Given the description of an element on the screen output the (x, y) to click on. 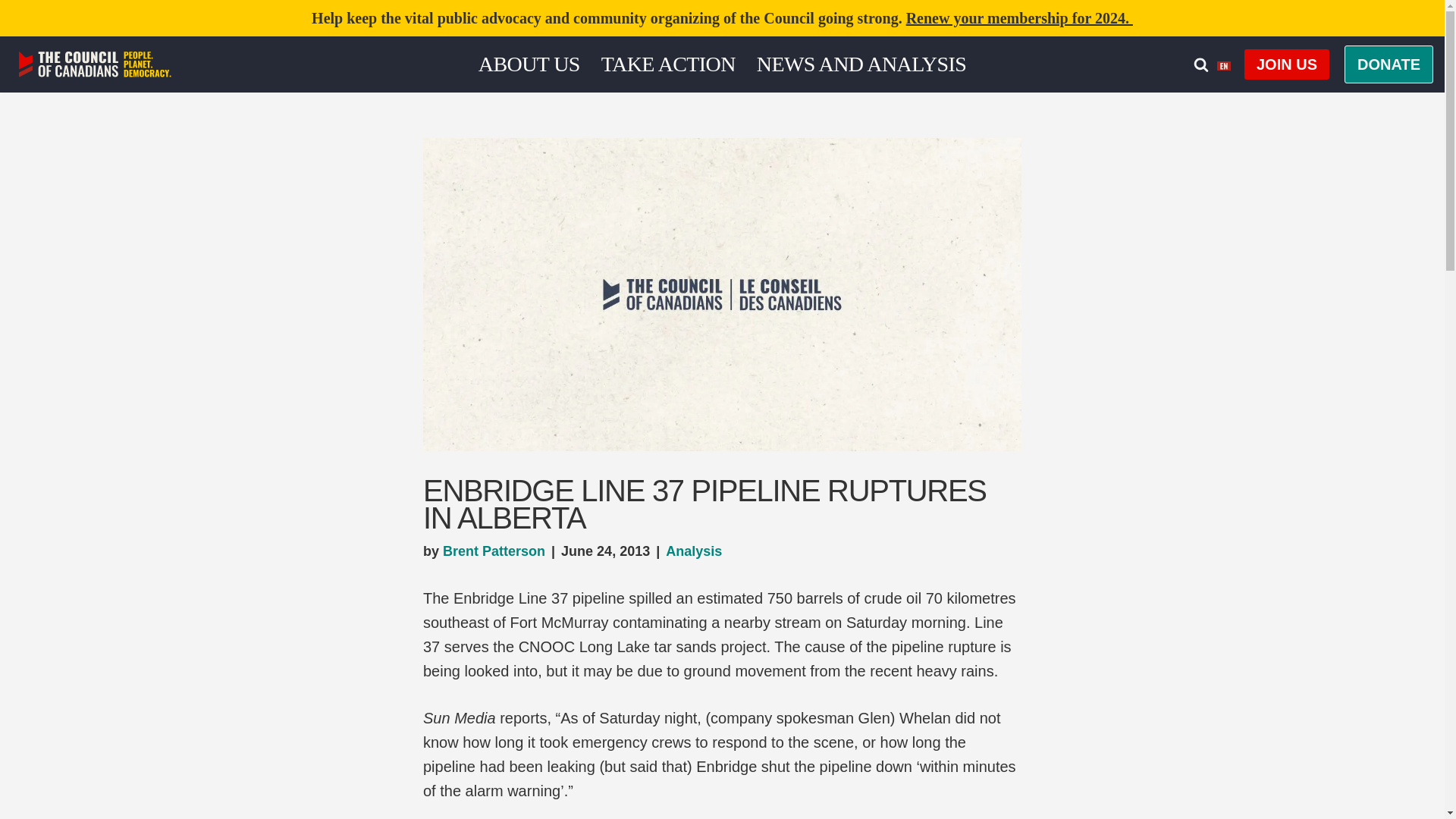
ABOUT US (529, 63)
Skip to content (11, 31)
Posts by Brent Patterson (493, 550)
DONATE (1387, 64)
NEWS AND ANALYSIS (861, 63)
Brent Patterson (493, 550)
Analysis (693, 550)
Renew your membership for 2024.  (1018, 17)
JOIN US (1286, 64)
TAKE ACTION (668, 63)
